Given the description of an element on the screen output the (x, y) to click on. 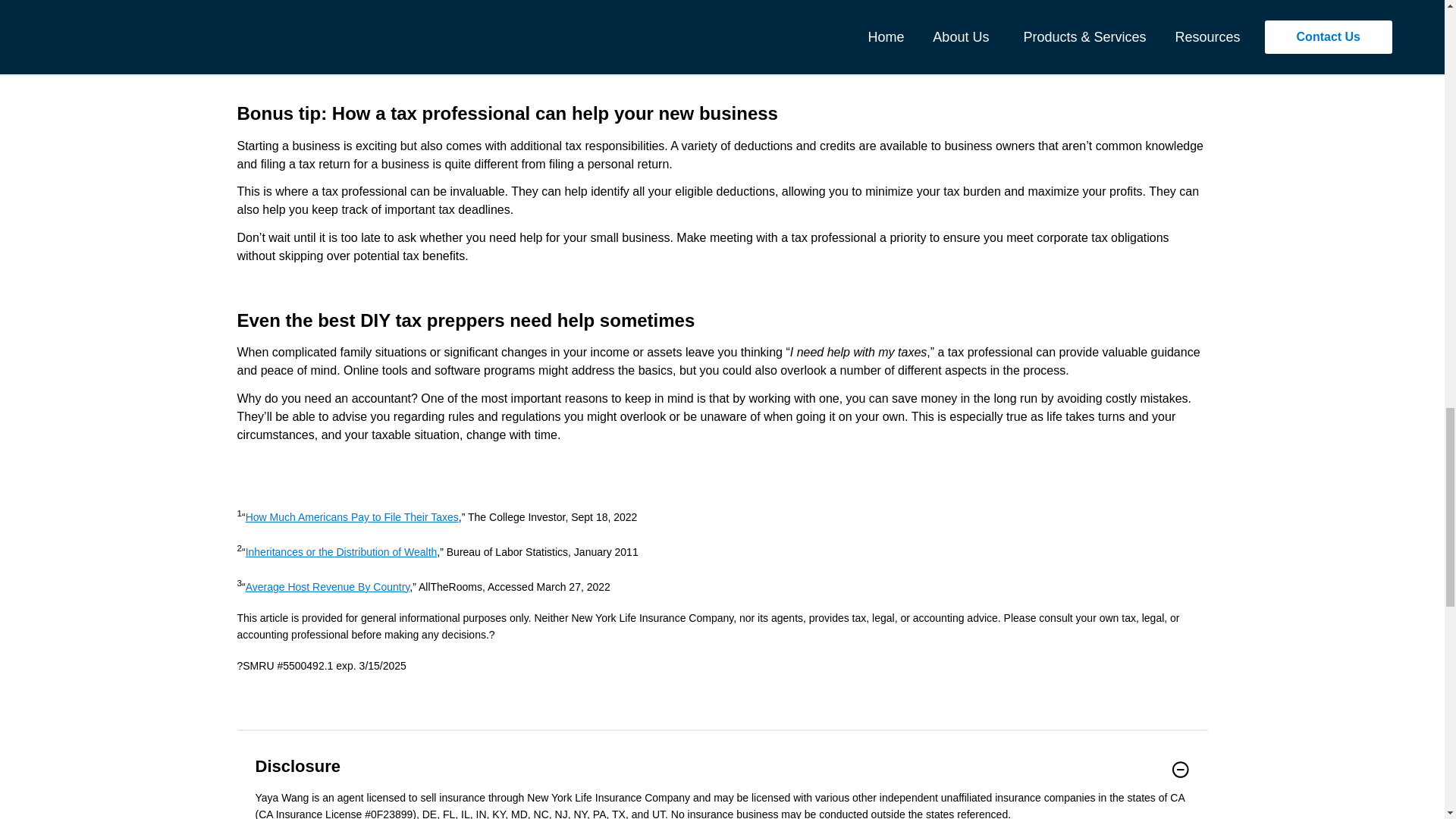
Inheritances or the Distribution of Wealth (342, 551)
Average Host Revenue By Country (328, 586)
How Much Americans Pay to File Their Taxes (352, 517)
circle-minus (1180, 769)
